Given the description of an element on the screen output the (x, y) to click on. 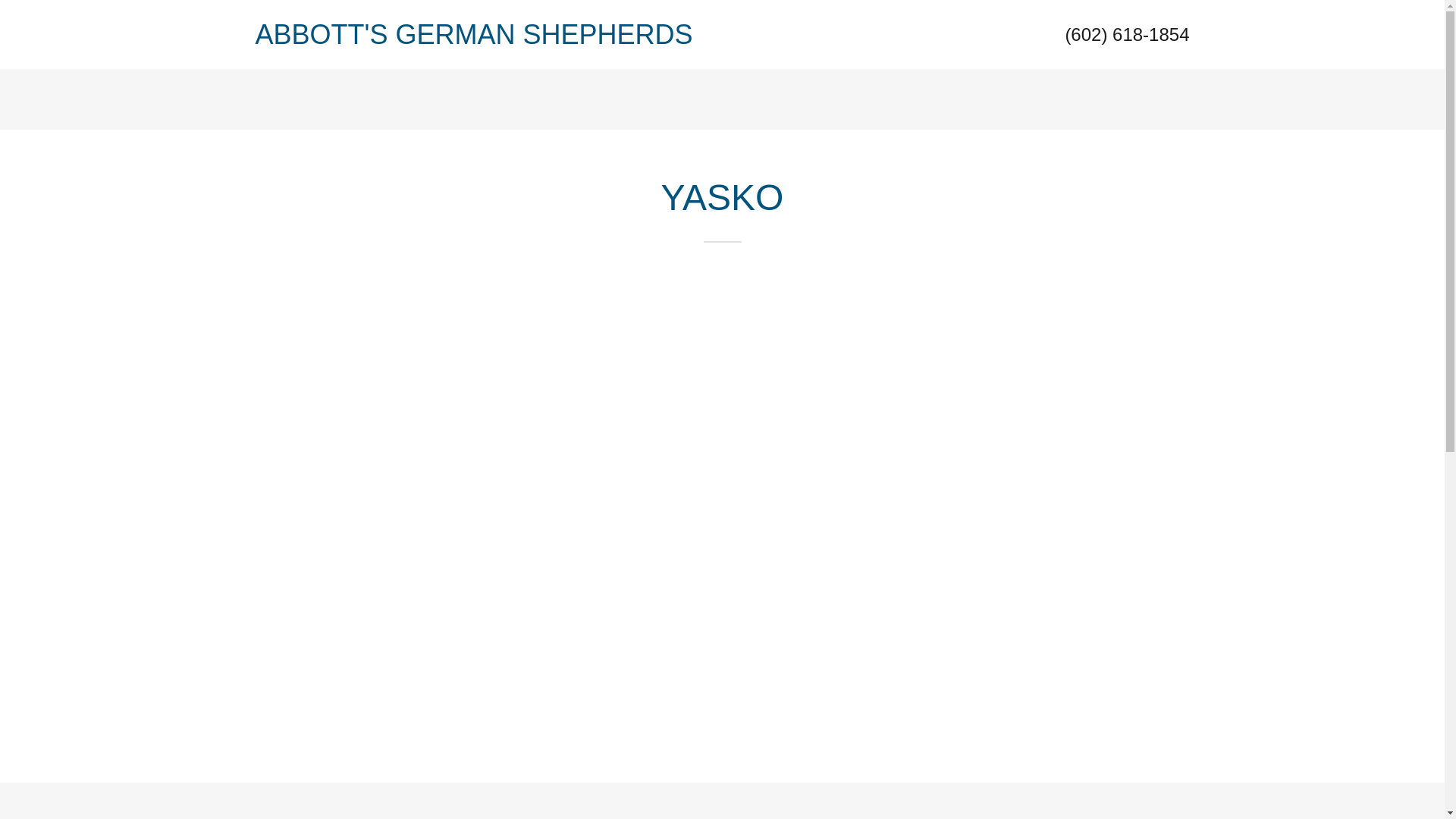
ABBOTT'S GERMAN SHEPHERDS (488, 38)
Abbott's German shepherds (488, 38)
